Given the description of an element on the screen output the (x, y) to click on. 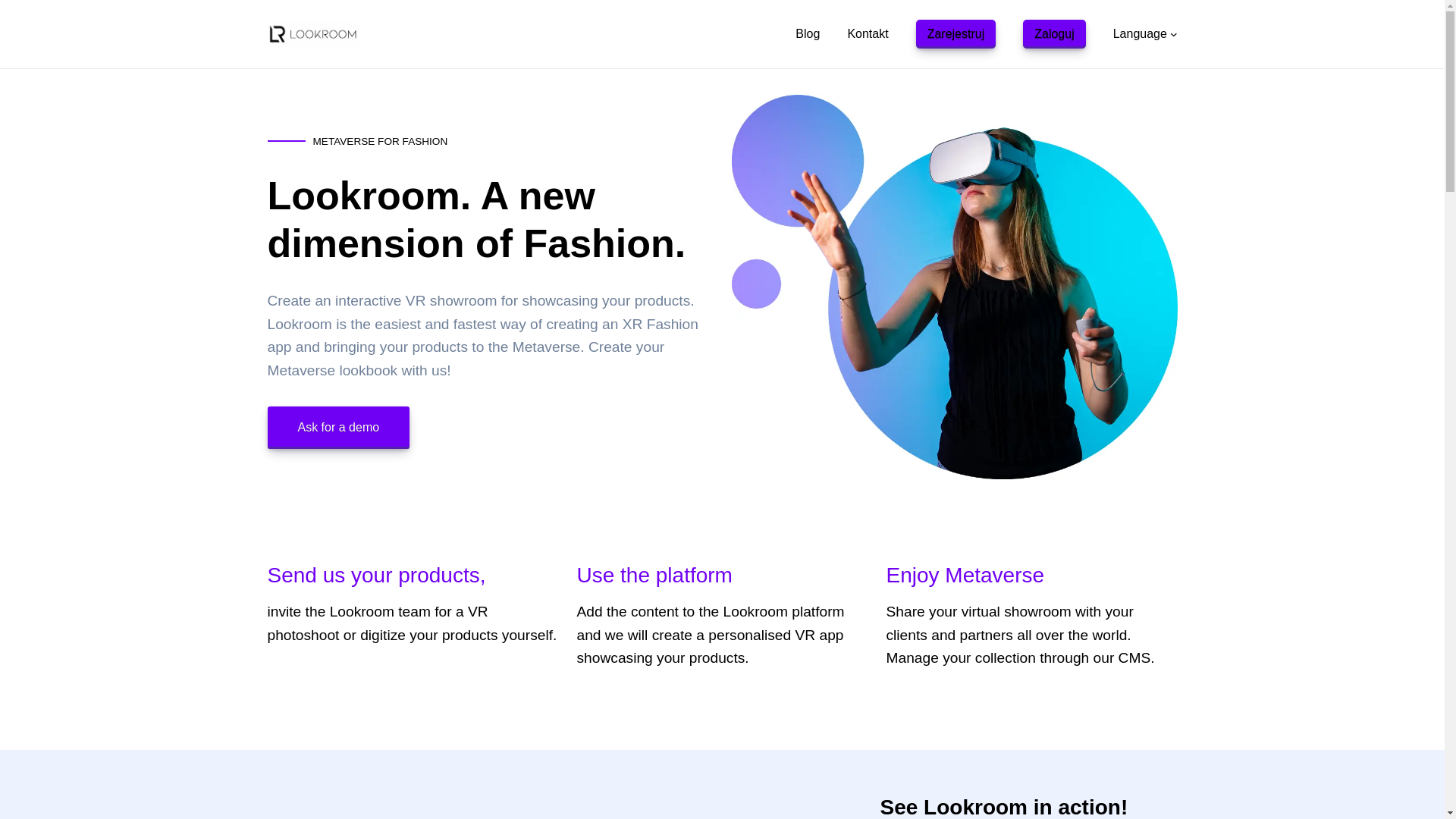
Zaloguj (1053, 34)
Language (1140, 33)
Kontakt (867, 33)
Zarejestruj (955, 34)
Ask for a demo (337, 427)
